Given the description of an element on the screen output the (x, y) to click on. 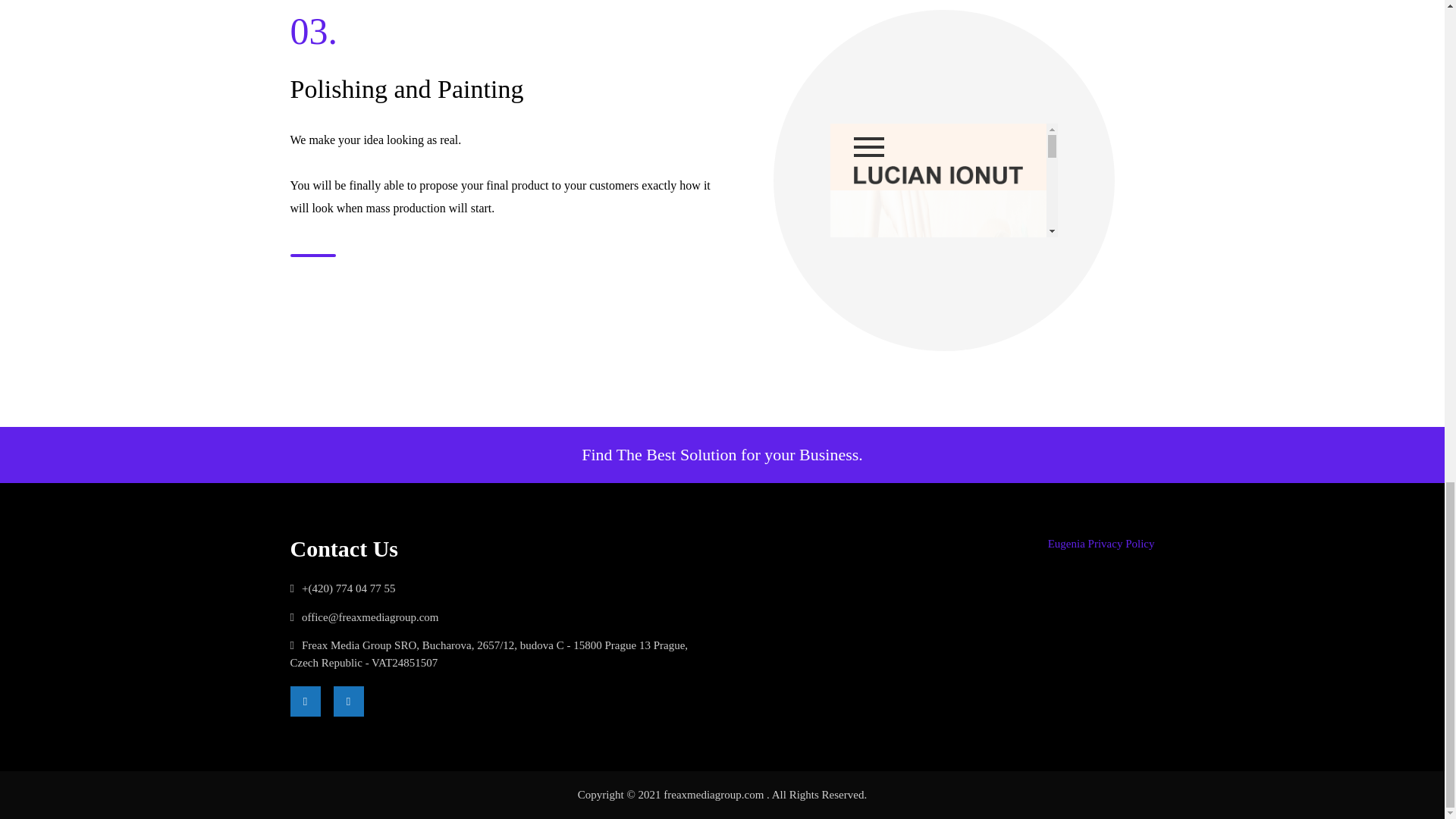
Eugenia Privacy Policy (1101, 543)
